Given the description of an element on the screen output the (x, y) to click on. 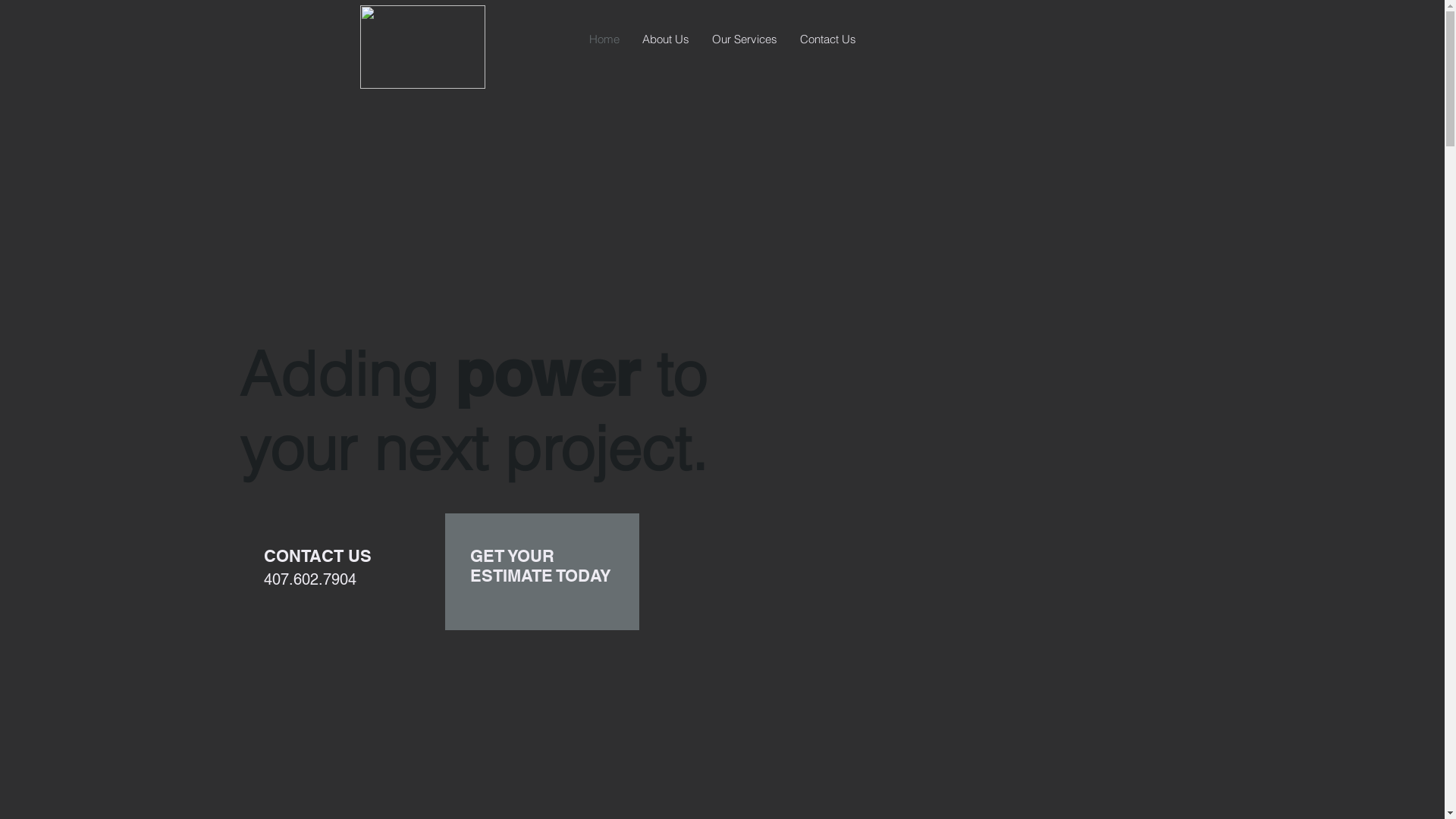
Our Services Element type: text (744, 39)
About Us Element type: text (665, 39)
Home Element type: text (603, 39)
ESTIMATE TODAY Element type: text (540, 575)
Contact Us Element type: text (827, 39)
2bwired%20logo_edited.png Element type: hover (421, 46)
GET YOUR Element type: text (512, 555)
